Given the description of an element on the screen output the (x, y) to click on. 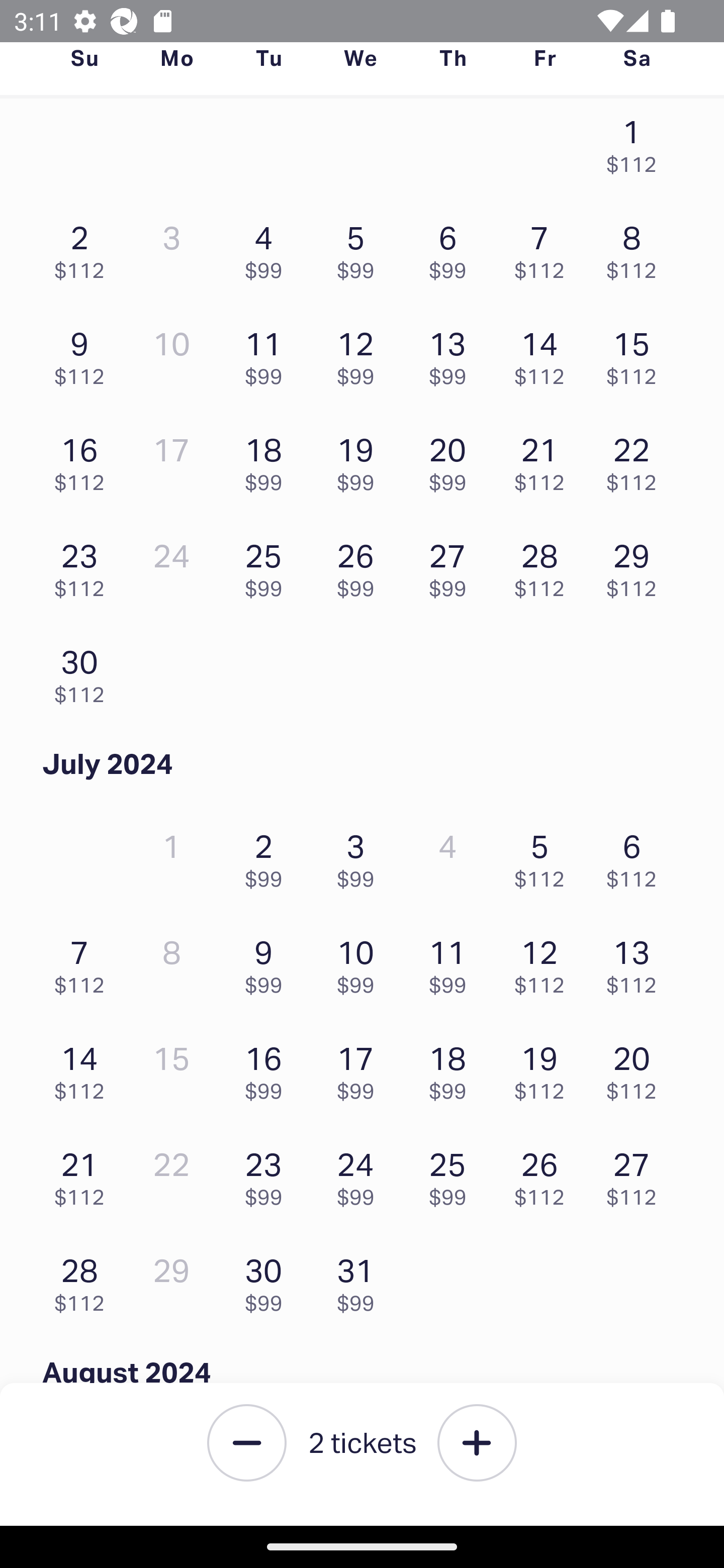
1 $112 (636, 144)
2 $112 (84, 246)
4 $99 (268, 246)
5 $99 (360, 246)
6 $99 (452, 246)
7 $112 (544, 246)
8 $112 (636, 246)
9 $112 (84, 353)
11 $99 (268, 353)
12 $99 (360, 353)
13 $99 (452, 353)
14 $112 (544, 353)
15 $112 (636, 353)
16 $112 (84, 459)
18 $99 (268, 459)
19 $99 (360, 459)
20 $99 (452, 459)
21 $112 (544, 459)
22 $112 (636, 459)
23 $112 (84, 564)
25 $99 (268, 564)
26 $99 (360, 564)
27 $99 (452, 564)
28 $112 (544, 564)
29 $112 (636, 564)
30 $112 (84, 671)
2 $99 (268, 855)
3 $99 (360, 855)
5 $112 (544, 855)
6 $112 (636, 855)
7 $112 (84, 961)
9 $99 (268, 961)
10 $99 (360, 961)
11 $99 (452, 961)
12 $112 (544, 961)
13 $112 (636, 961)
14 $112 (84, 1068)
16 $99 (268, 1068)
17 $99 (360, 1068)
18 $99 (452, 1068)
19 $112 (544, 1068)
20 $112 (636, 1068)
21 $112 (84, 1173)
23 $99 (268, 1173)
24 $99 (360, 1173)
25 $99 (452, 1173)
26 $112 (544, 1173)
27 $112 (636, 1173)
28 $112 (84, 1279)
30 $99 (268, 1279)
31 $99 (360, 1279)
